Given the description of an element on the screen output the (x, y) to click on. 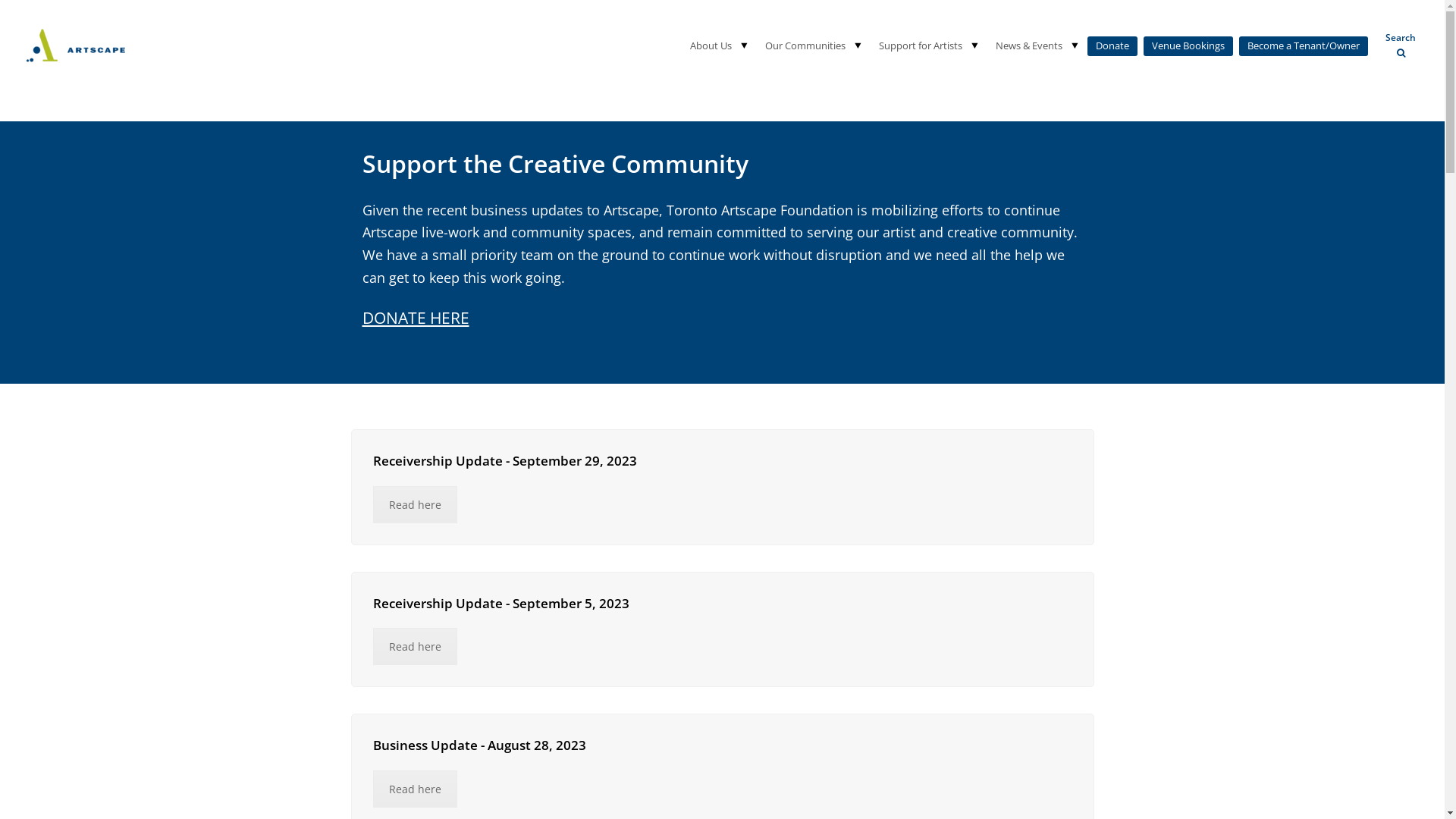
Our Communities Element type: text (800, 45)
Venue Bookings Element type: text (1188, 45)
Donate Element type: text (1112, 45)
Read here Element type: text (415, 788)
Read here Element type: text (415, 504)
Become a Tenant/Owner Element type: text (1303, 45)
DONATE HERE Element type: text (415, 317)
News & Events Element type: text (1024, 45)
About Us Element type: text (706, 45)
Artscape Home Element type: hover (75, 43)
Search Element type: text (1400, 45)
Read here Element type: text (415, 646)
Support for Artists Element type: text (916, 45)
